Given the description of an element on the screen output the (x, y) to click on. 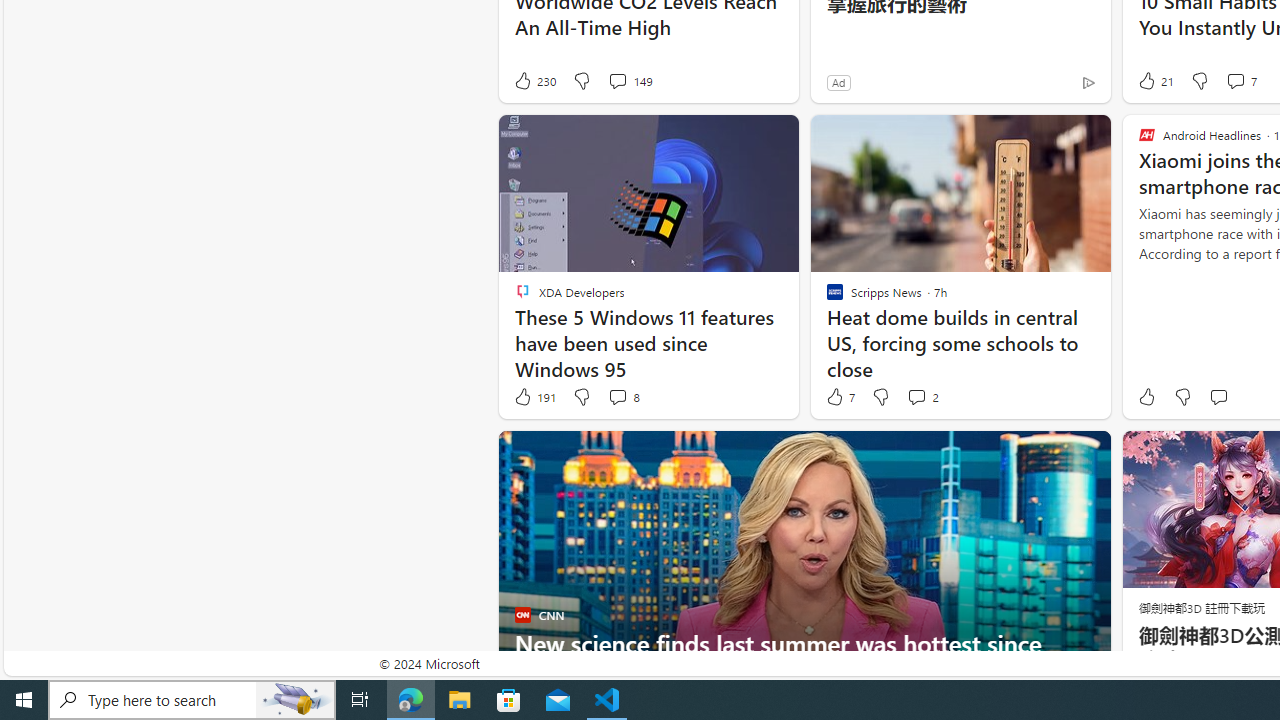
View comments 149 Comment (629, 80)
7 Like (839, 397)
View comments 2 Comment (922, 397)
View comments 8 Comment (617, 396)
230 Like (534, 80)
21 Like (1154, 80)
View comments 149 Comment (617, 80)
View comments 7 Comment (1234, 80)
Hide this story (1050, 454)
View comments 7 Comment (1240, 80)
